Given the description of an element on the screen output the (x, y) to click on. 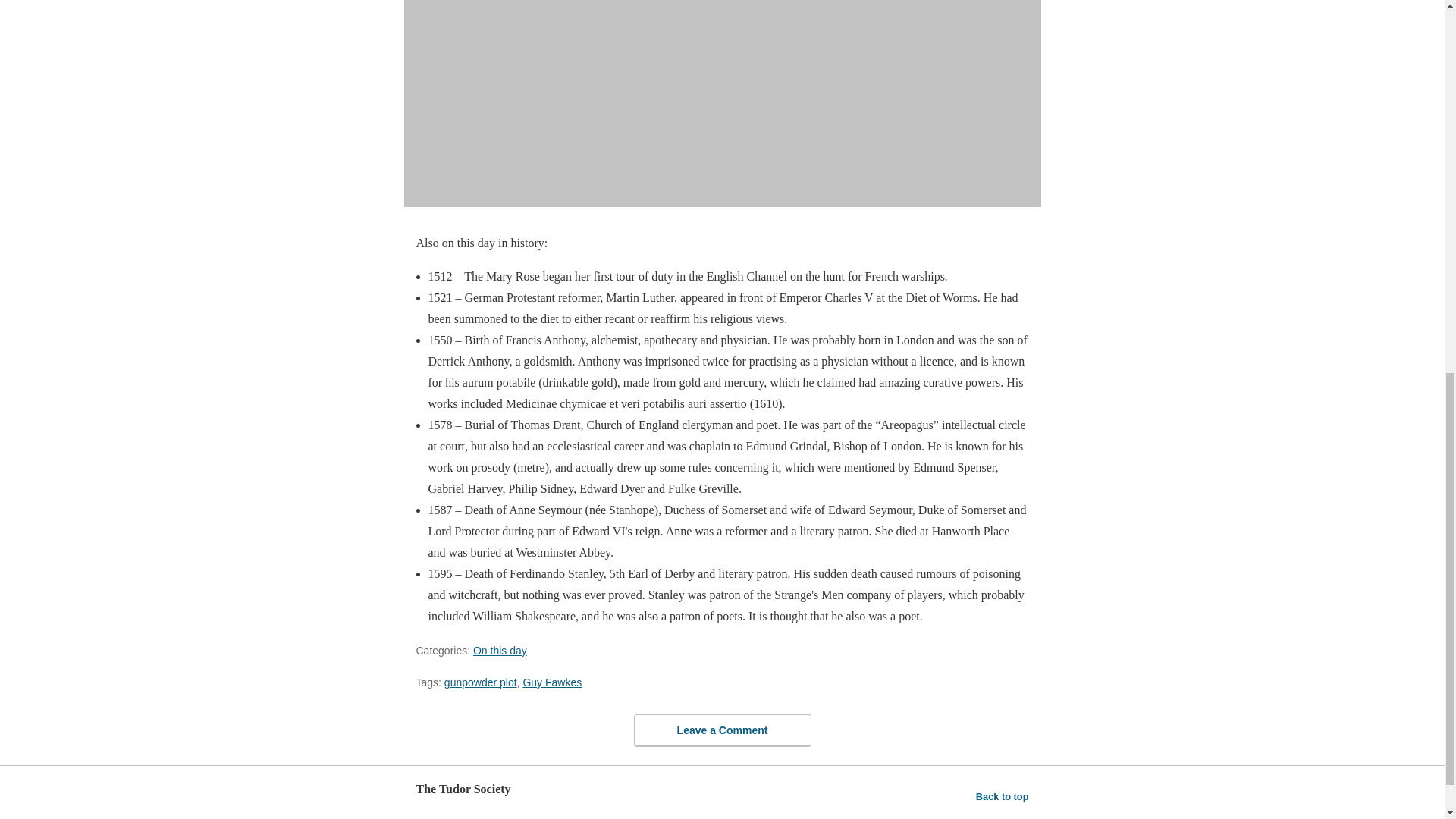
April 16 - Guy Fawkes was baptised (722, 103)
Back to top (1002, 796)
Leave a Comment (721, 730)
On this day (500, 650)
gunpowder plot (480, 682)
Guy Fawkes (551, 682)
